Given the description of an element on the screen output the (x, y) to click on. 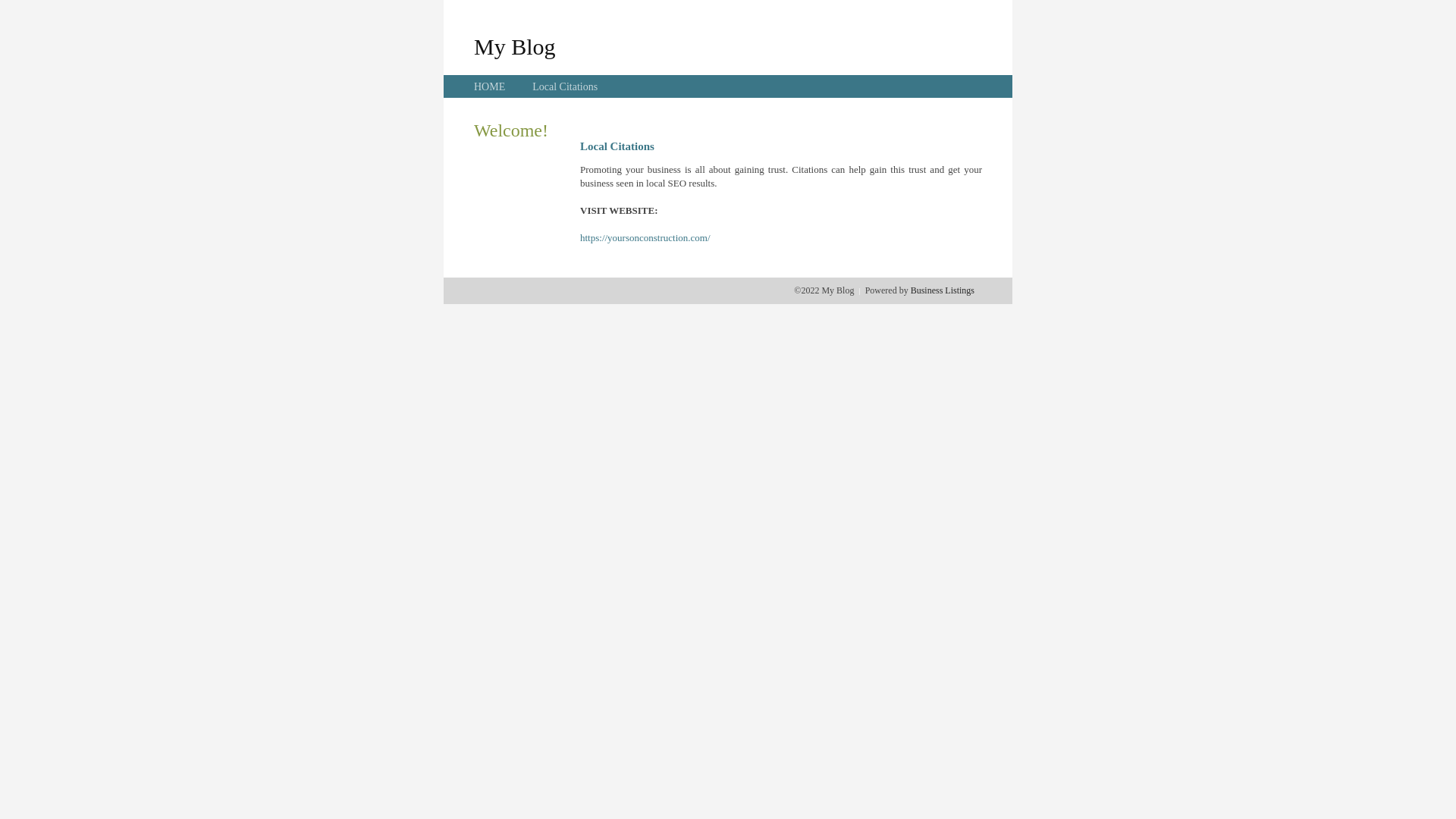
Business Listings Element type: text (942, 290)
https://yoursonconstruction.com/ Element type: text (645, 237)
HOME Element type: text (489, 86)
Local Citations Element type: text (564, 86)
My Blog Element type: text (514, 46)
